Given the description of an element on the screen output the (x, y) to click on. 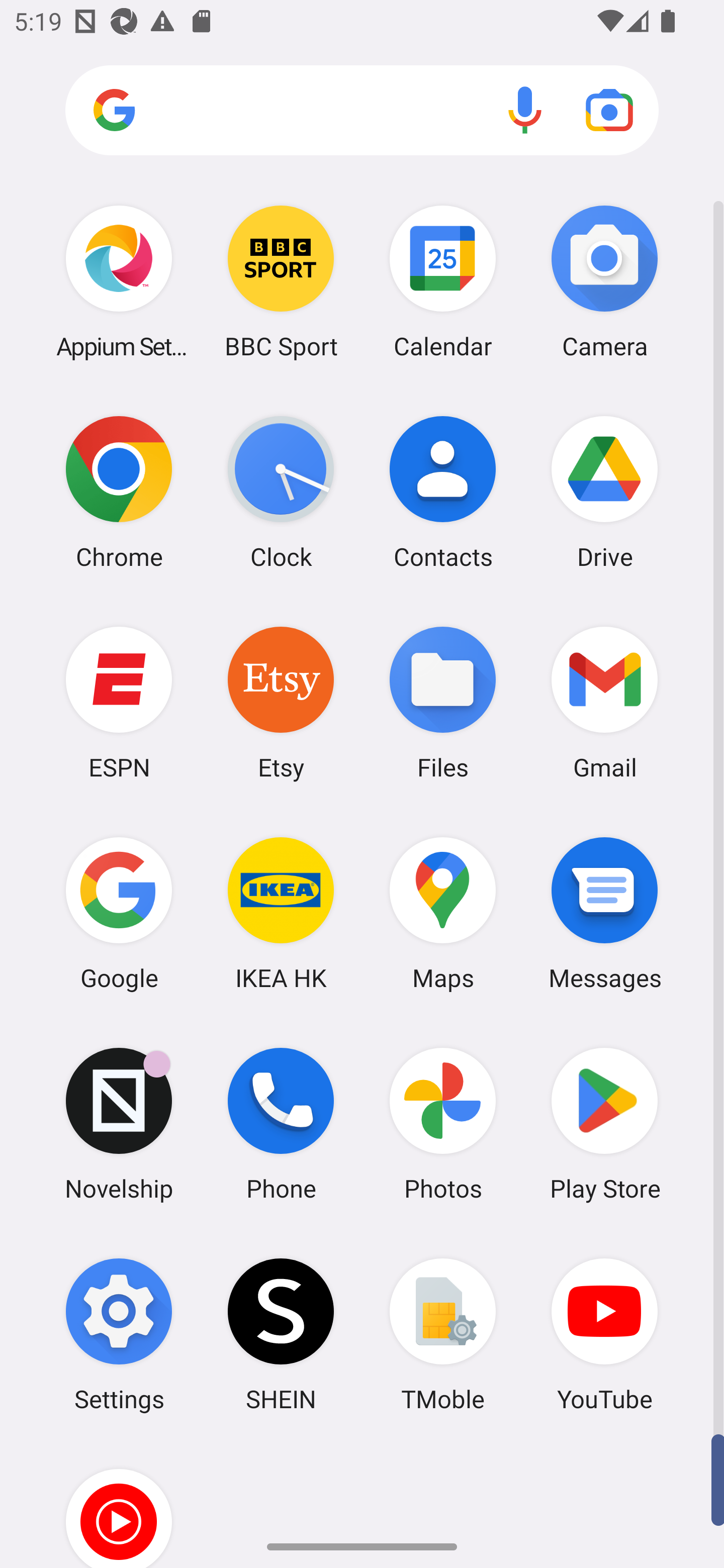
Search apps, web and more (361, 110)
Voice search (524, 109)
Google Lens (608, 109)
Appium Settings (118, 281)
BBC Sport (280, 281)
Calendar (443, 281)
Camera (604, 281)
Chrome (118, 492)
Clock (280, 492)
Contacts (443, 492)
Drive (604, 492)
ESPN (118, 702)
Etsy (280, 702)
Files (443, 702)
Gmail (604, 702)
Google (118, 913)
IKEA HK (280, 913)
Maps (443, 913)
Messages (604, 913)
Novelship Novelship has 1 notification (118, 1124)
Phone (280, 1124)
Photos (443, 1124)
Play Store (604, 1124)
Settings (118, 1334)
SHEIN (280, 1334)
TMoble (443, 1334)
YouTube (604, 1334)
YT Music (118, 1503)
